Given the description of an element on the screen output the (x, y) to click on. 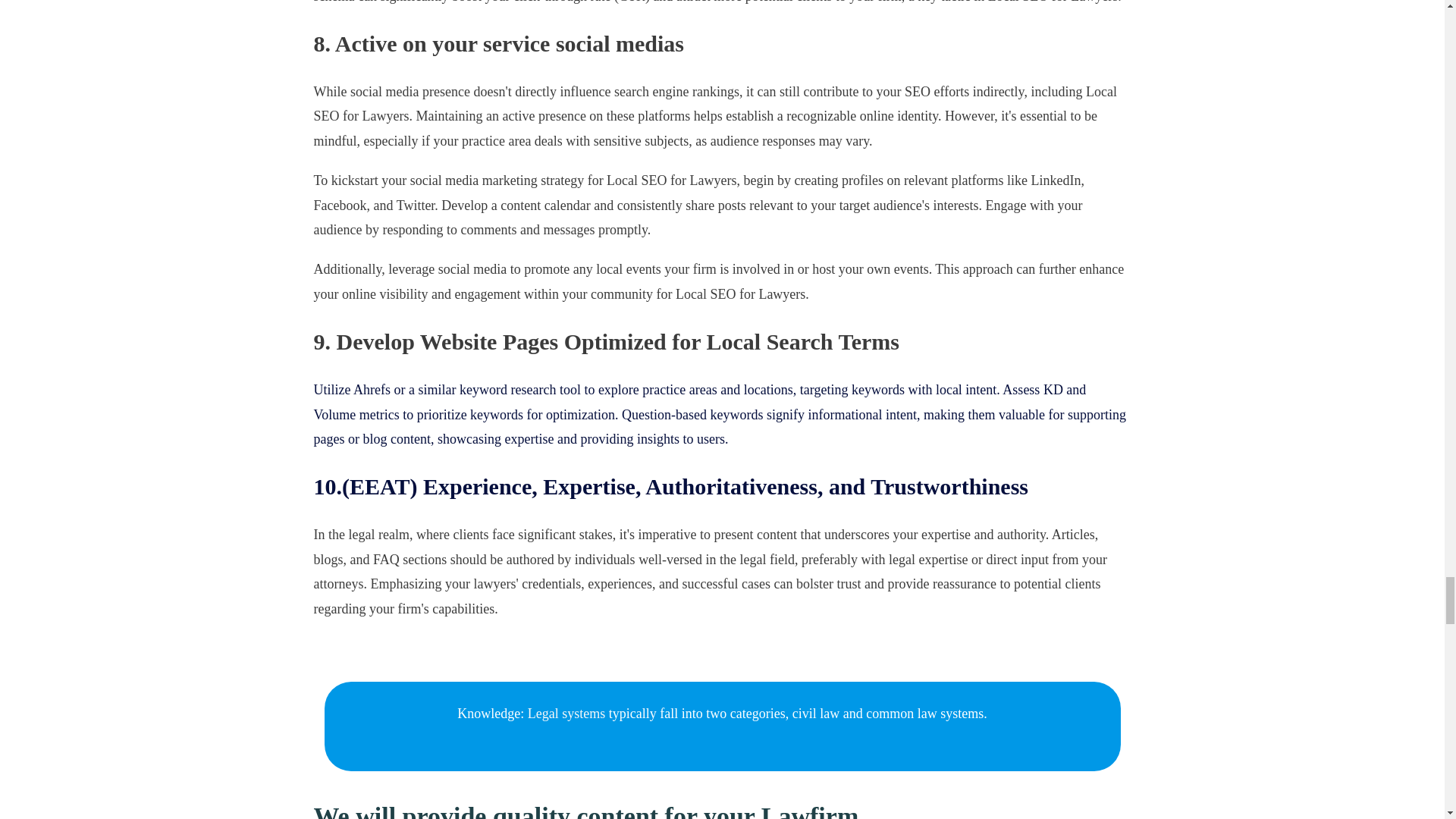
Legal systems (567, 713)
